Given the description of an element on the screen output the (x, y) to click on. 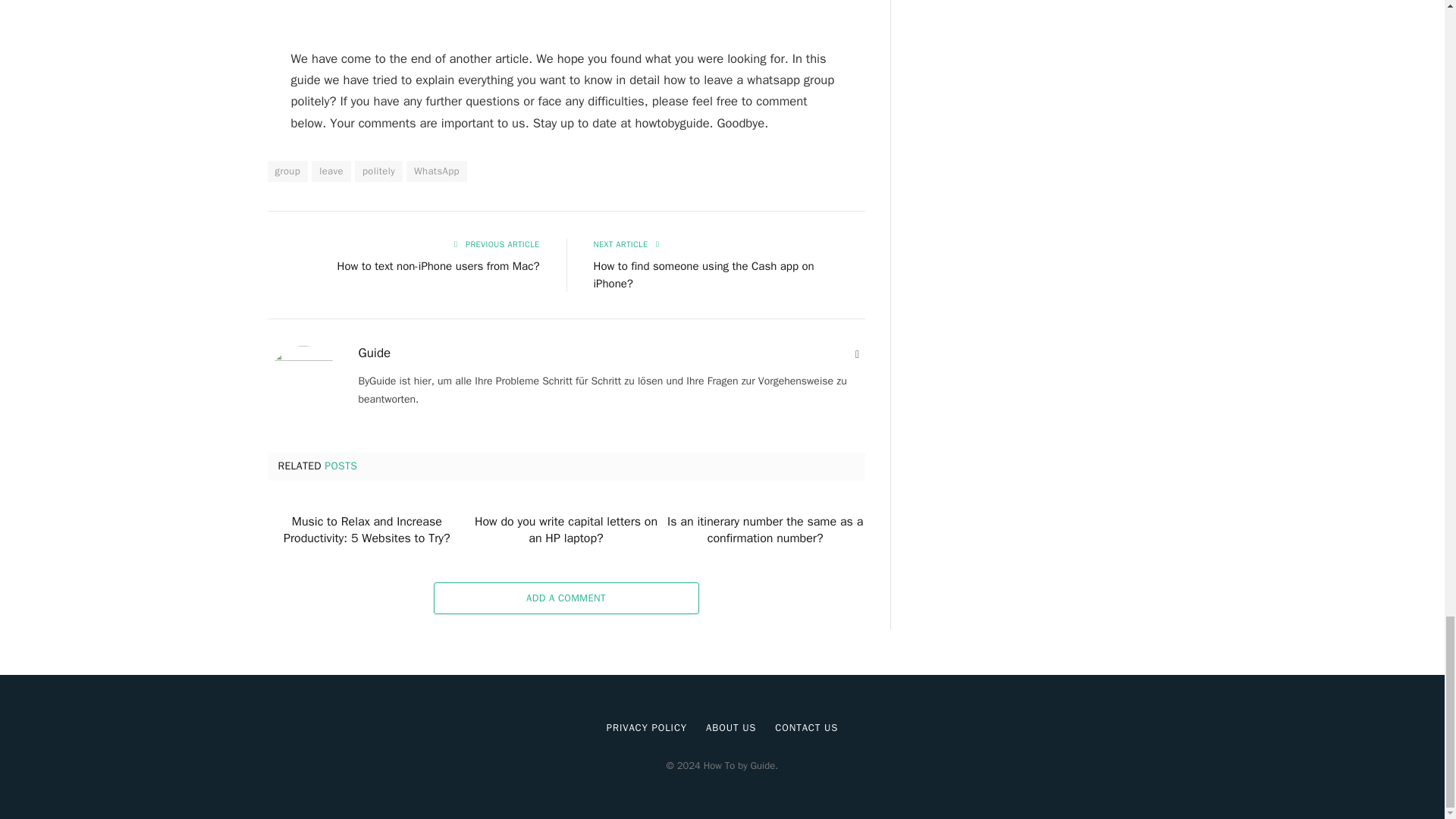
group (286, 170)
Posts by Guide (374, 353)
Website (856, 354)
How to text non-iPhone users from Mac? (438, 265)
politely (379, 170)
WhatsApp (436, 170)
leave (330, 170)
